Given the description of an element on the screen output the (x, y) to click on. 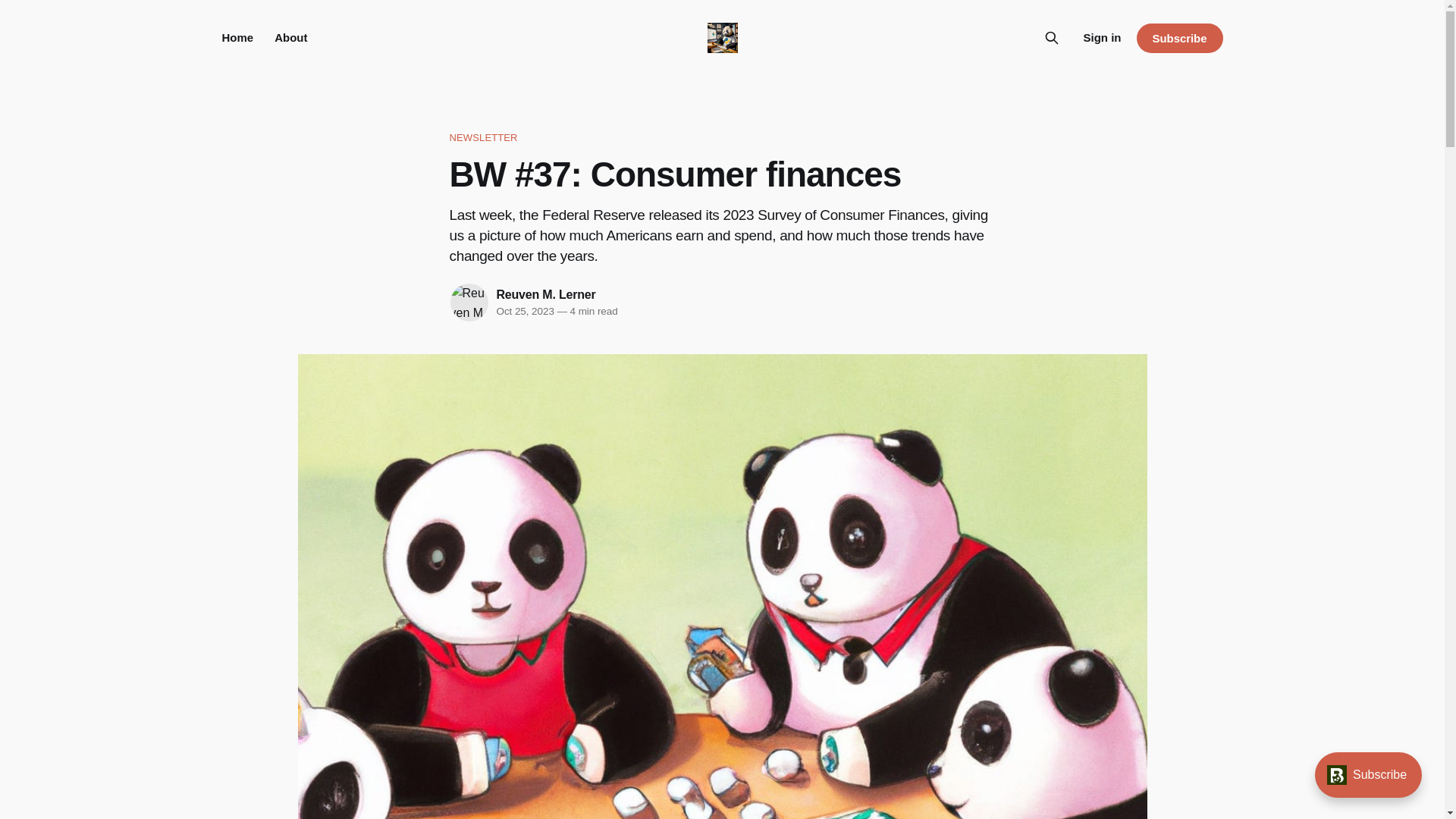
NEWSLETTER (721, 138)
Reuven M. Lerner (545, 294)
Sign in (1102, 37)
About (291, 37)
Home (237, 37)
Subscribe (1179, 37)
